Given the description of an element on the screen output the (x, y) to click on. 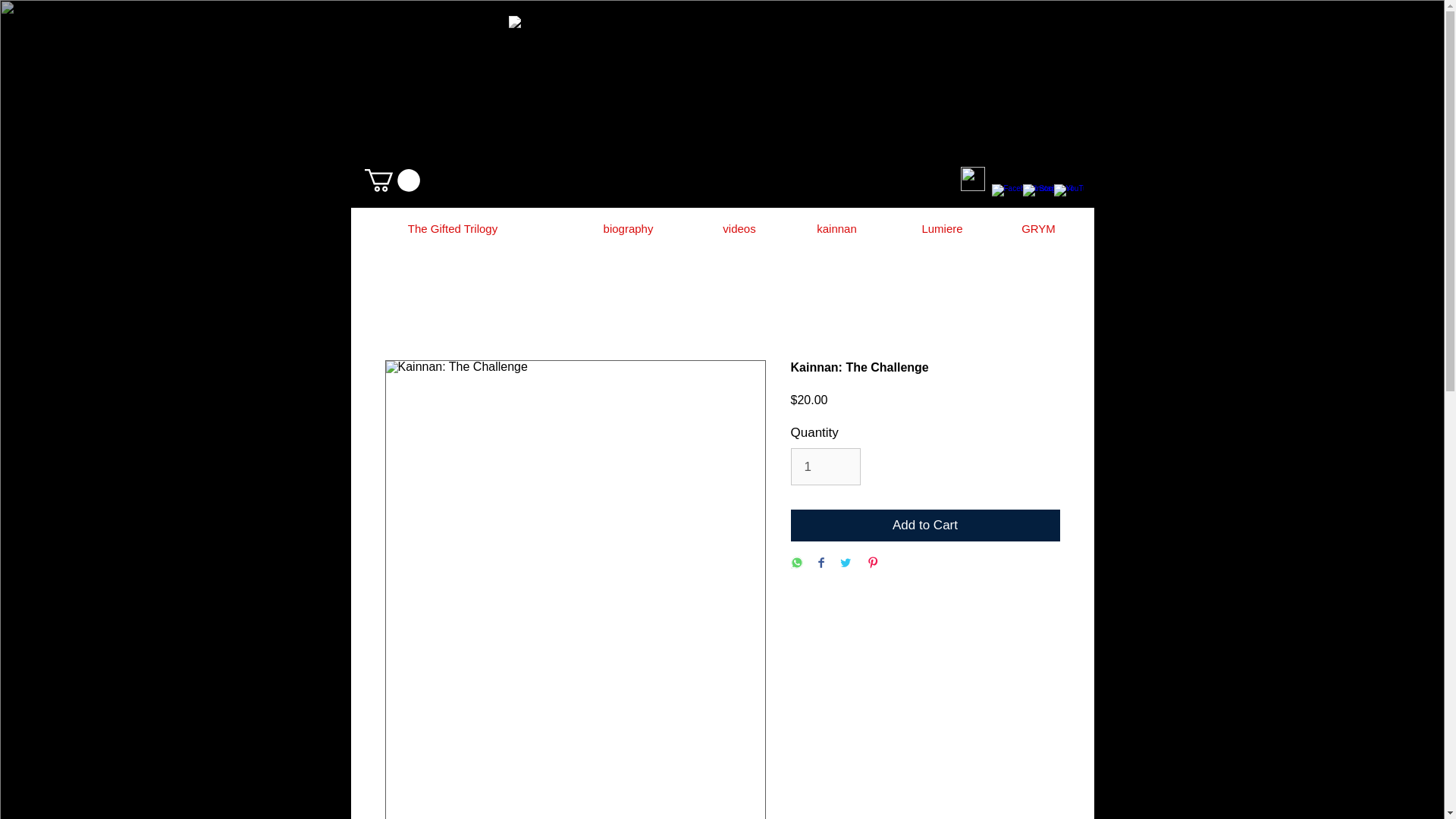
GRYM (1038, 228)
1 (825, 466)
Add to Cart (924, 525)
videos (738, 228)
biography (628, 228)
The Gifted Trilogy (451, 228)
Lumiere (941, 228)
kainnan (837, 228)
